Given the description of an element on the screen output the (x, y) to click on. 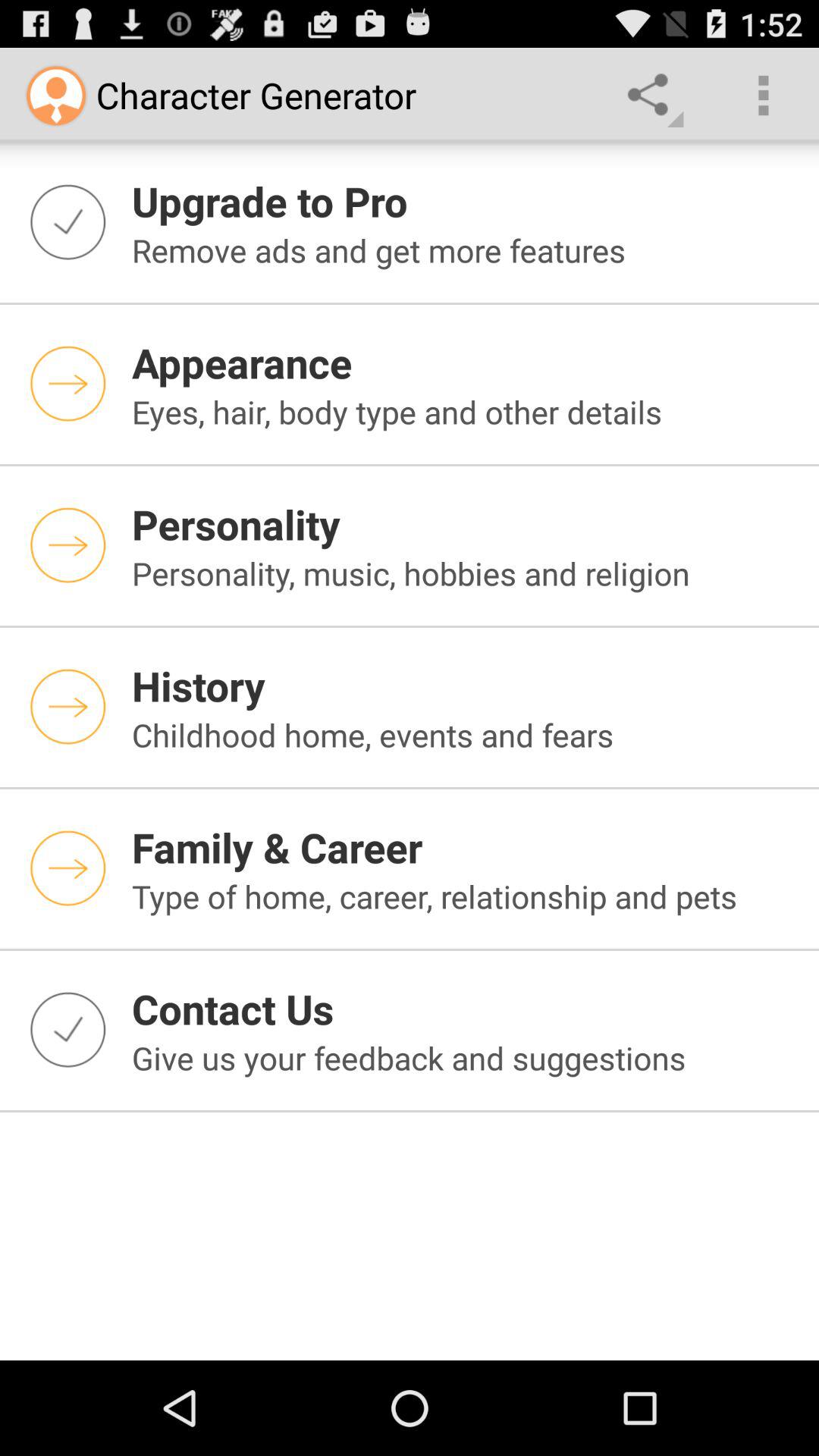
click icon above the appearance app (465, 249)
